Given the description of an element on the screen output the (x, y) to click on. 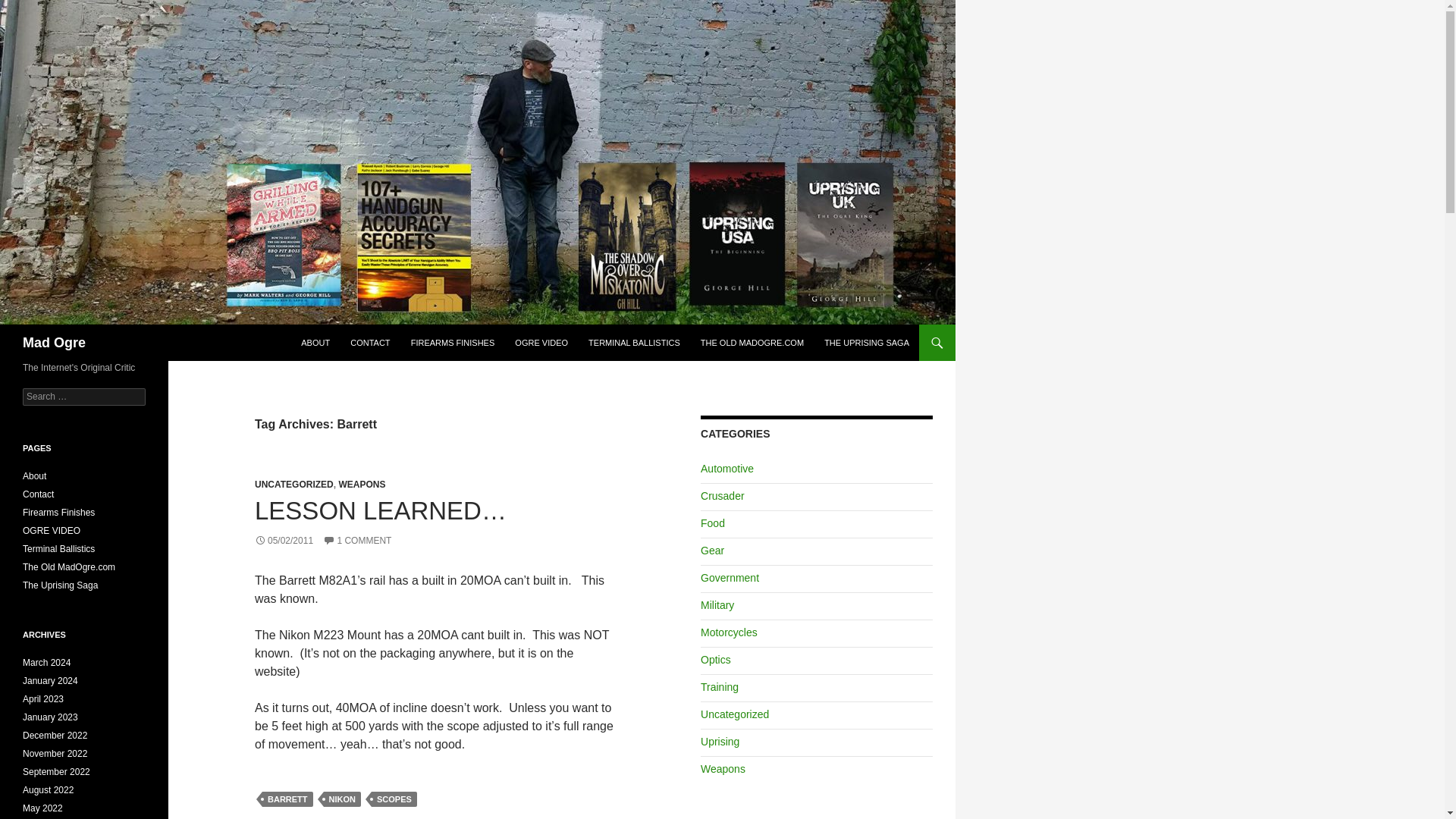
THE OLD MADOGRE.COM (751, 342)
BARRETT (287, 798)
SCOPES (393, 798)
CONTACT (369, 342)
NIKON (342, 798)
1 COMMENT (357, 540)
THE UPRISING SAGA (866, 342)
WEAPONS (361, 484)
